Given the description of an element on the screen output the (x, y) to click on. 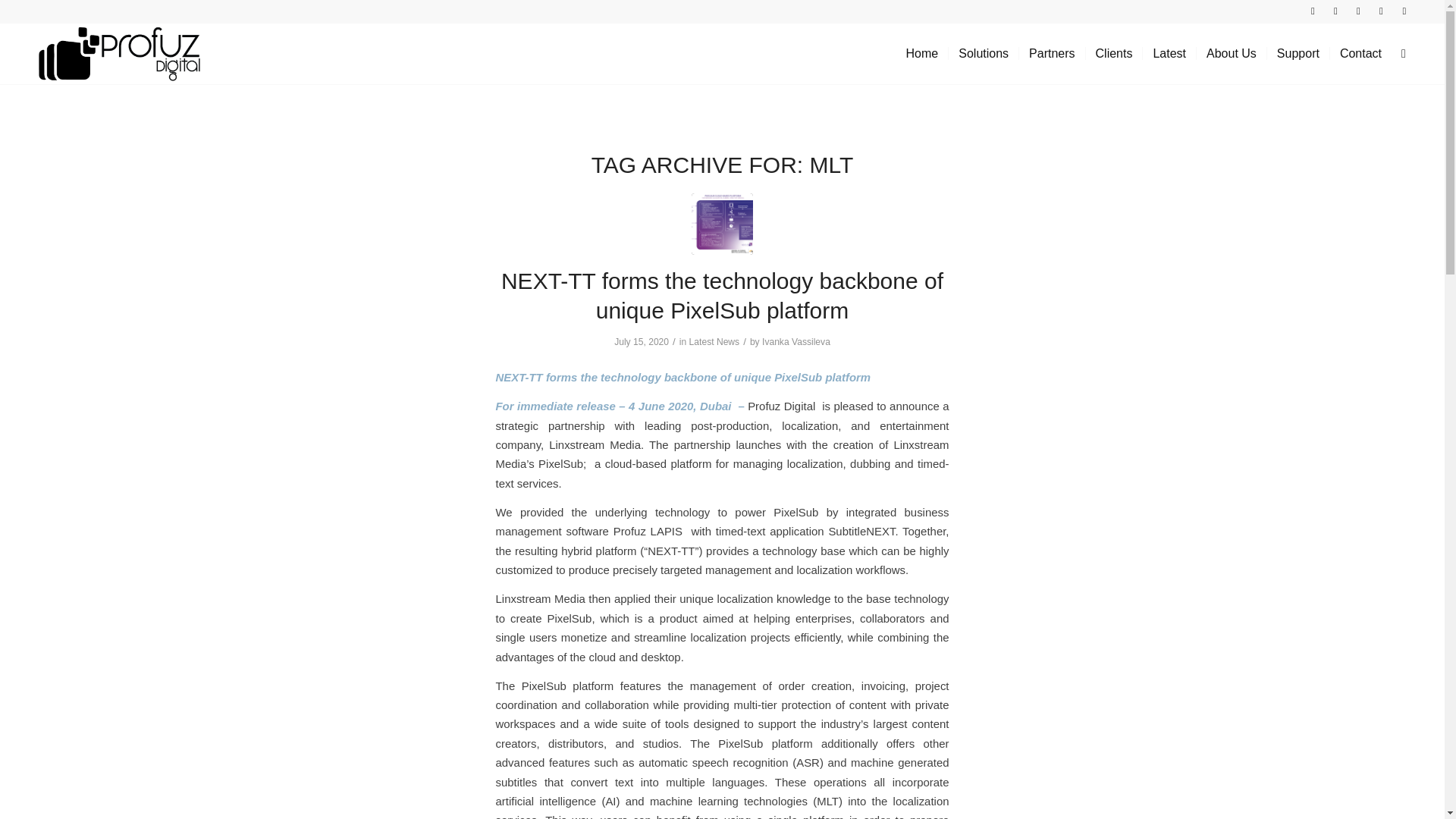
Support (1297, 53)
About Us (1230, 53)
Instagram (1335, 11)
Pixelsub diagrama1 (721, 223)
Ivanka Vassileva (795, 341)
Latest (1168, 53)
Facebook (1312, 11)
Youtube (1359, 11)
Home (922, 53)
Partners (1050, 53)
Contact (1360, 53)
Posts by Ivanka Vassileva (795, 341)
Latest News (713, 341)
Solutions (982, 53)
